Given the description of an element on the screen output the (x, y) to click on. 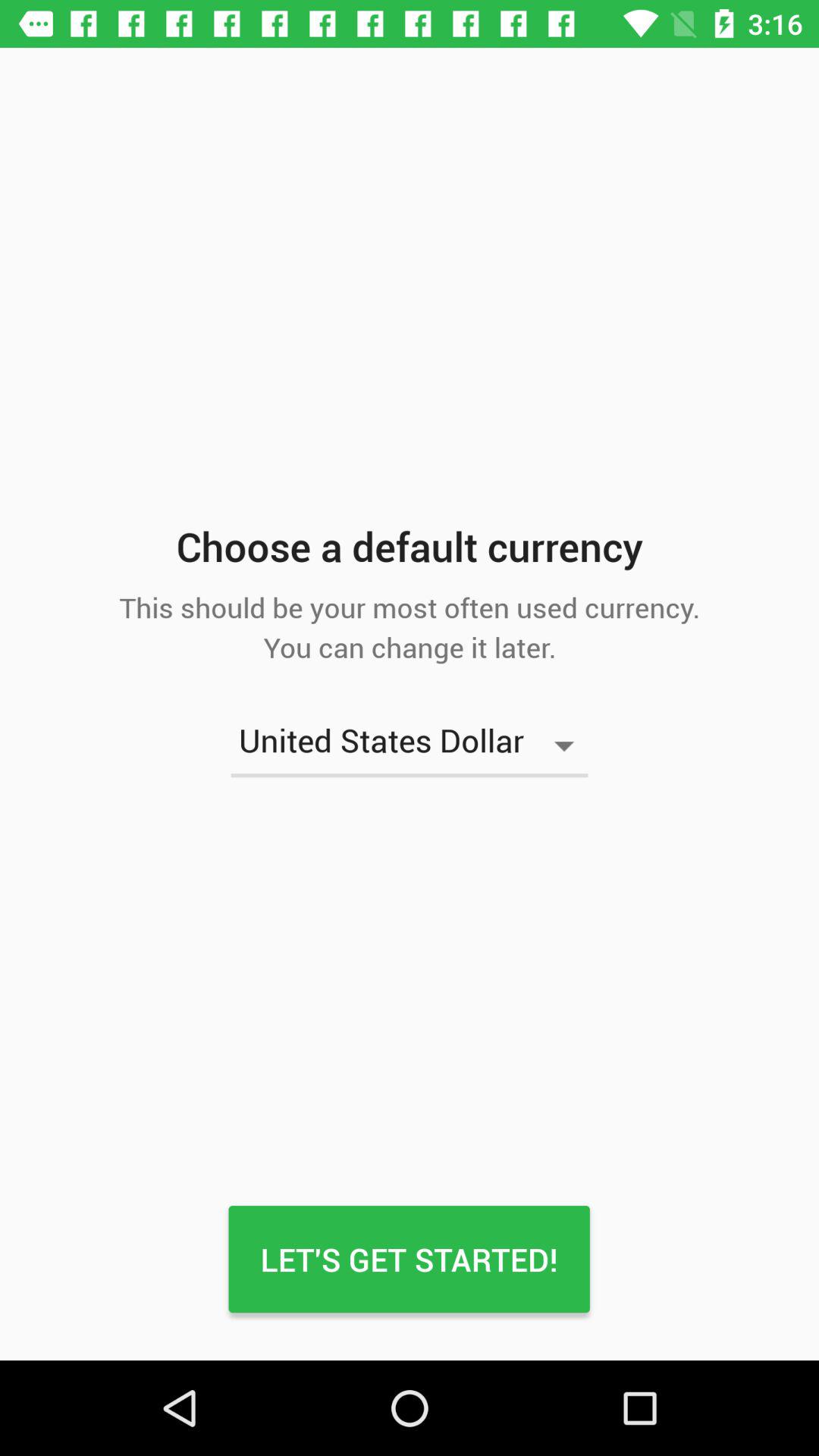
jump to united states dollar (409, 745)
